Given the description of an element on the screen output the (x, y) to click on. 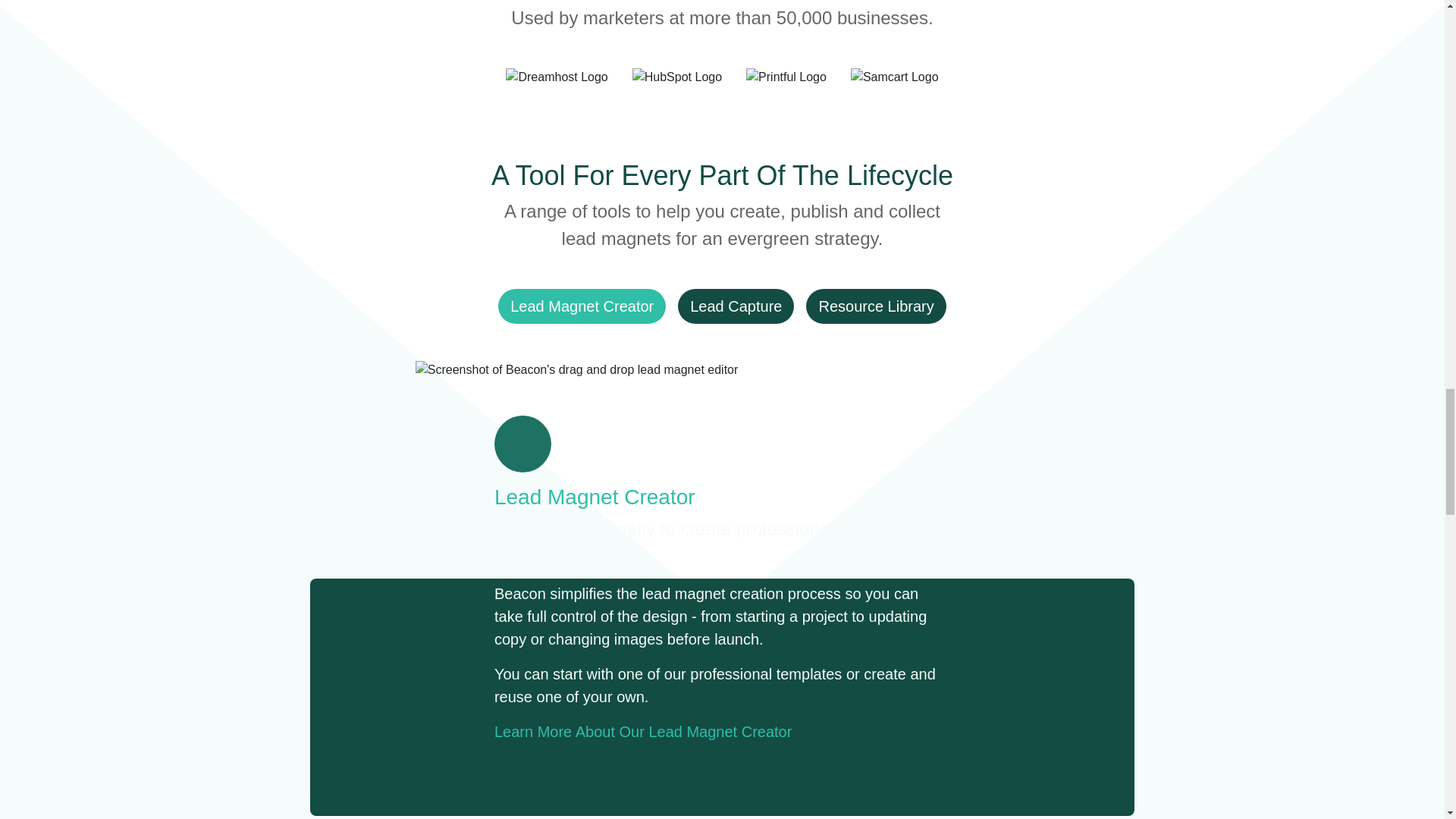
Lead Magnet Creator (581, 306)
Learn More About Our Lead Magnet Creator (643, 731)
Lead Capture (735, 306)
Resource Library (875, 306)
